Given the description of an element on the screen output the (x, y) to click on. 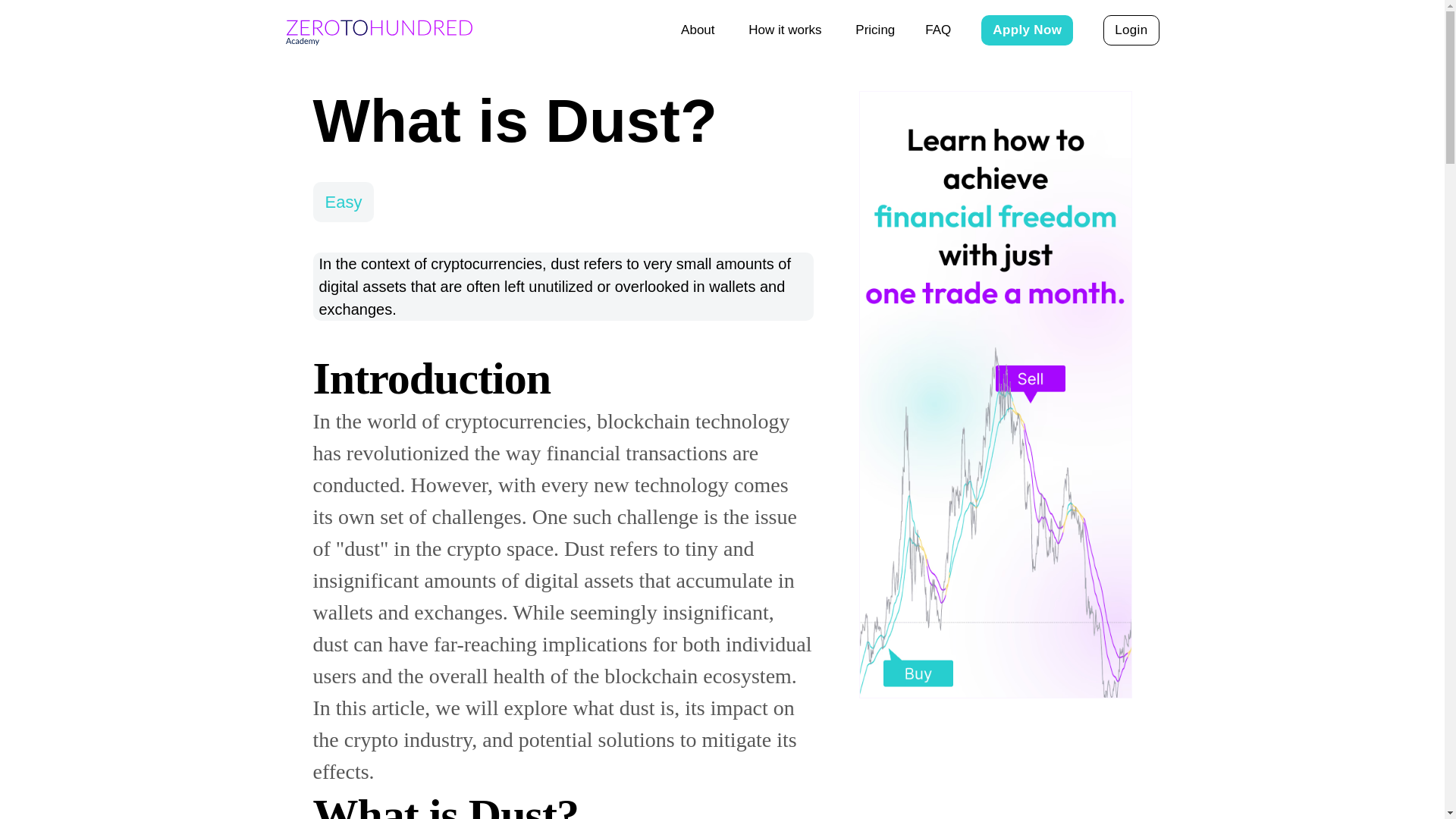
Pricing (875, 29)
FAQ (937, 29)
How it works  (786, 29)
About  (699, 29)
Login (1130, 30)
Apply Now (1027, 30)
